Given the description of an element on the screen output the (x, y) to click on. 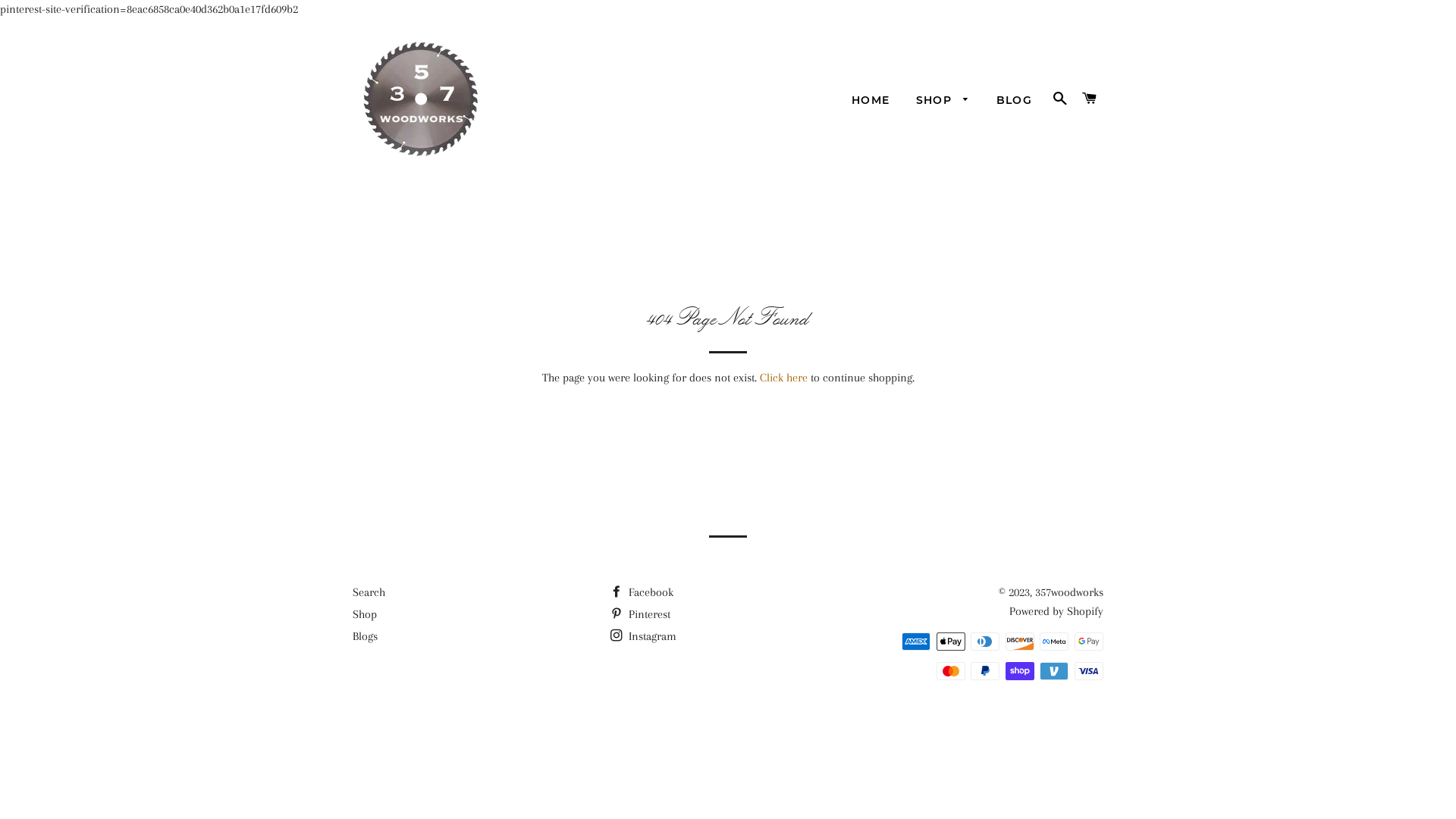
Search Element type: text (368, 592)
Shop Element type: text (364, 614)
SEARCH Element type: text (1059, 98)
CART Element type: text (1089, 98)
Powered by Shopify Element type: text (1056, 611)
SHOP Element type: text (943, 100)
Blogs Element type: text (364, 636)
Click here Element type: text (783, 377)
Instagram Element type: text (643, 636)
Facebook Element type: text (641, 592)
357woodworks Element type: text (1069, 592)
BLOG Element type: text (1014, 100)
Pinterest Element type: text (640, 614)
HOME Element type: text (870, 100)
